Given the description of an element on the screen output the (x, y) to click on. 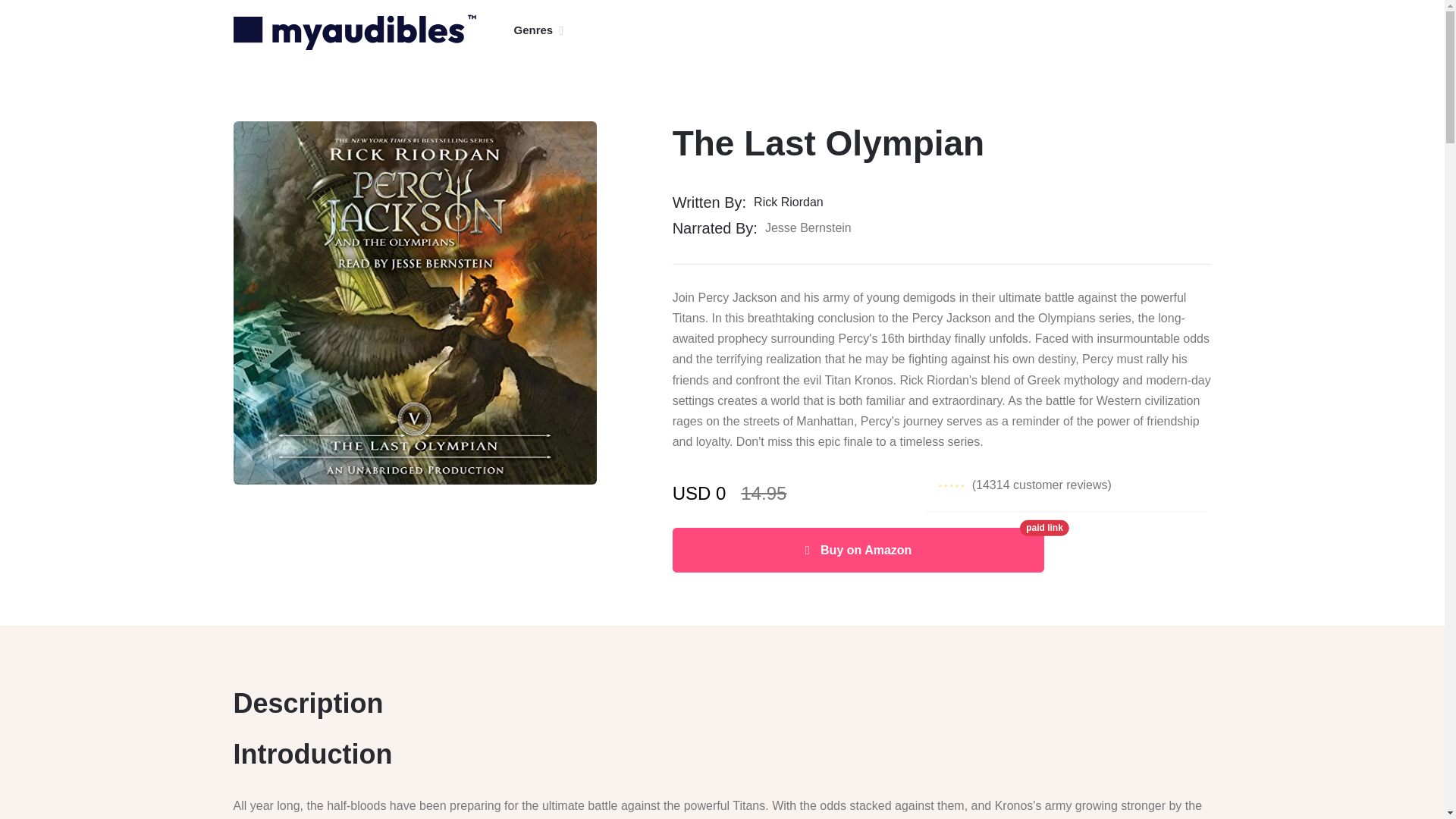
Rick Riordan (794, 201)
